Given the description of an element on the screen output the (x, y) to click on. 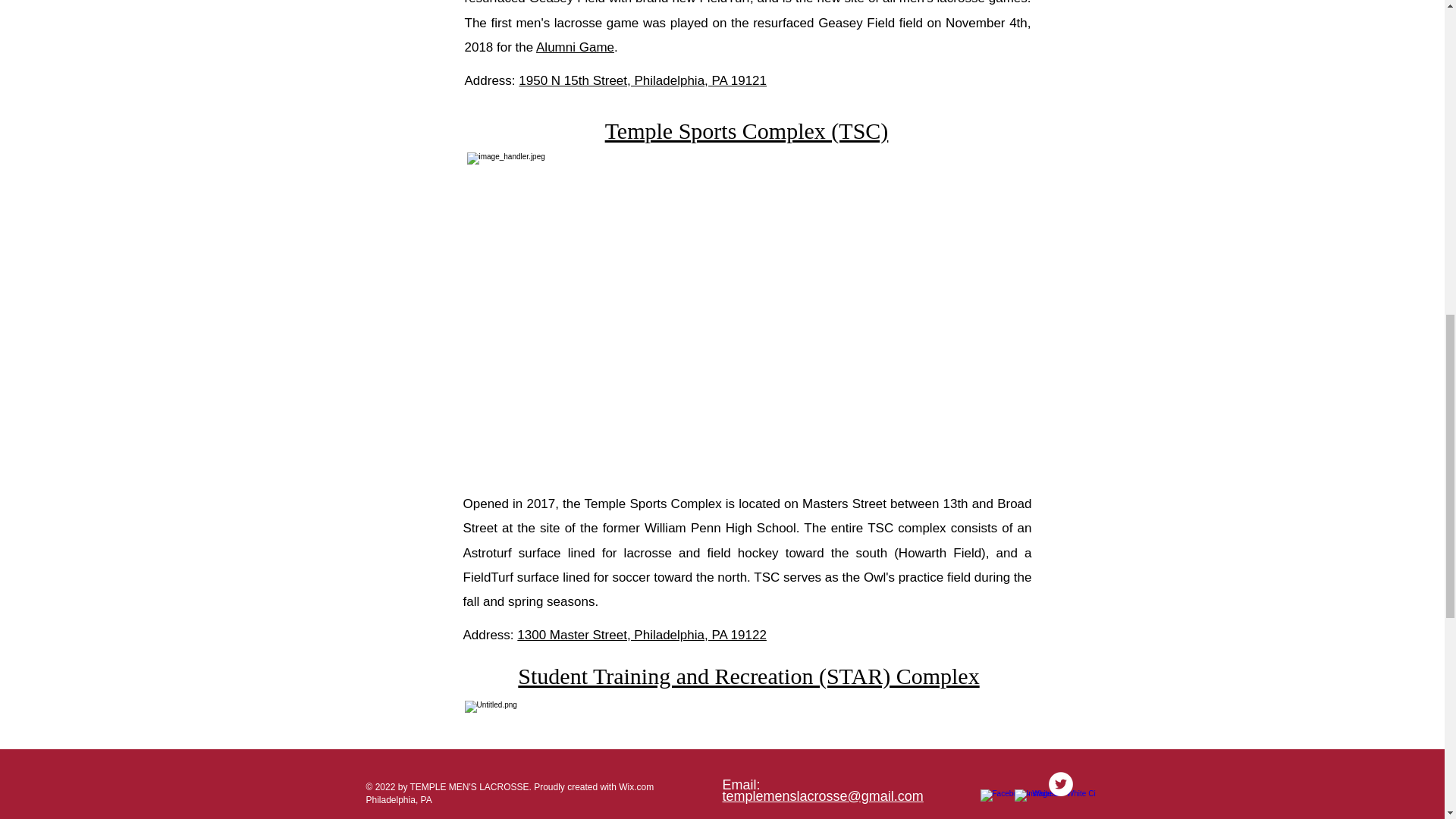
1300 Master Street, Philadelphia, PA 19122 (641, 635)
1950 N 15th Street, Philadelphia, PA 19121 (642, 80)
Alumni Game (574, 47)
